Given the description of an element on the screen output the (x, y) to click on. 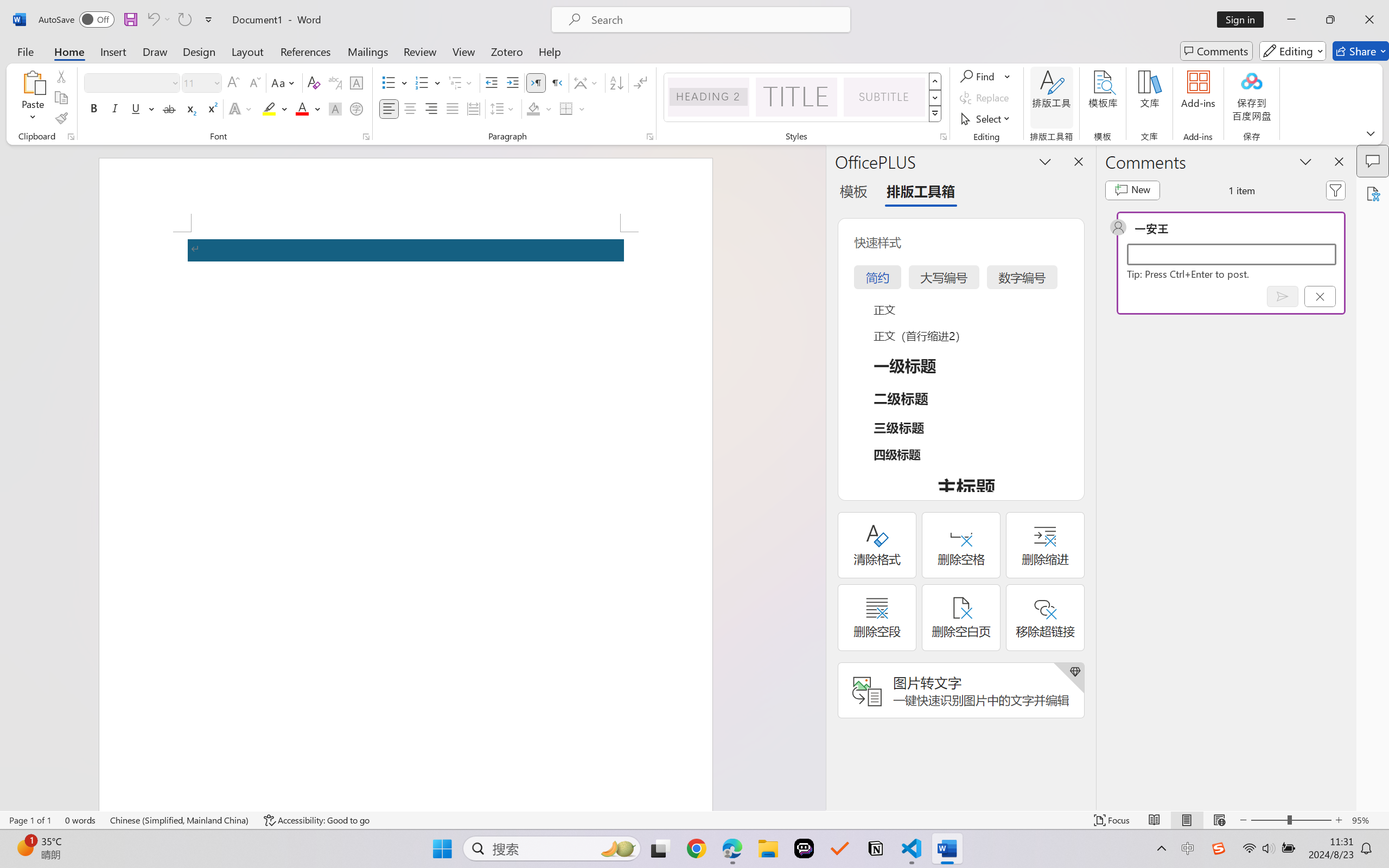
AutomationID: QuickStylesGallery (802, 97)
